Given the description of an element on the screen output the (x, y) to click on. 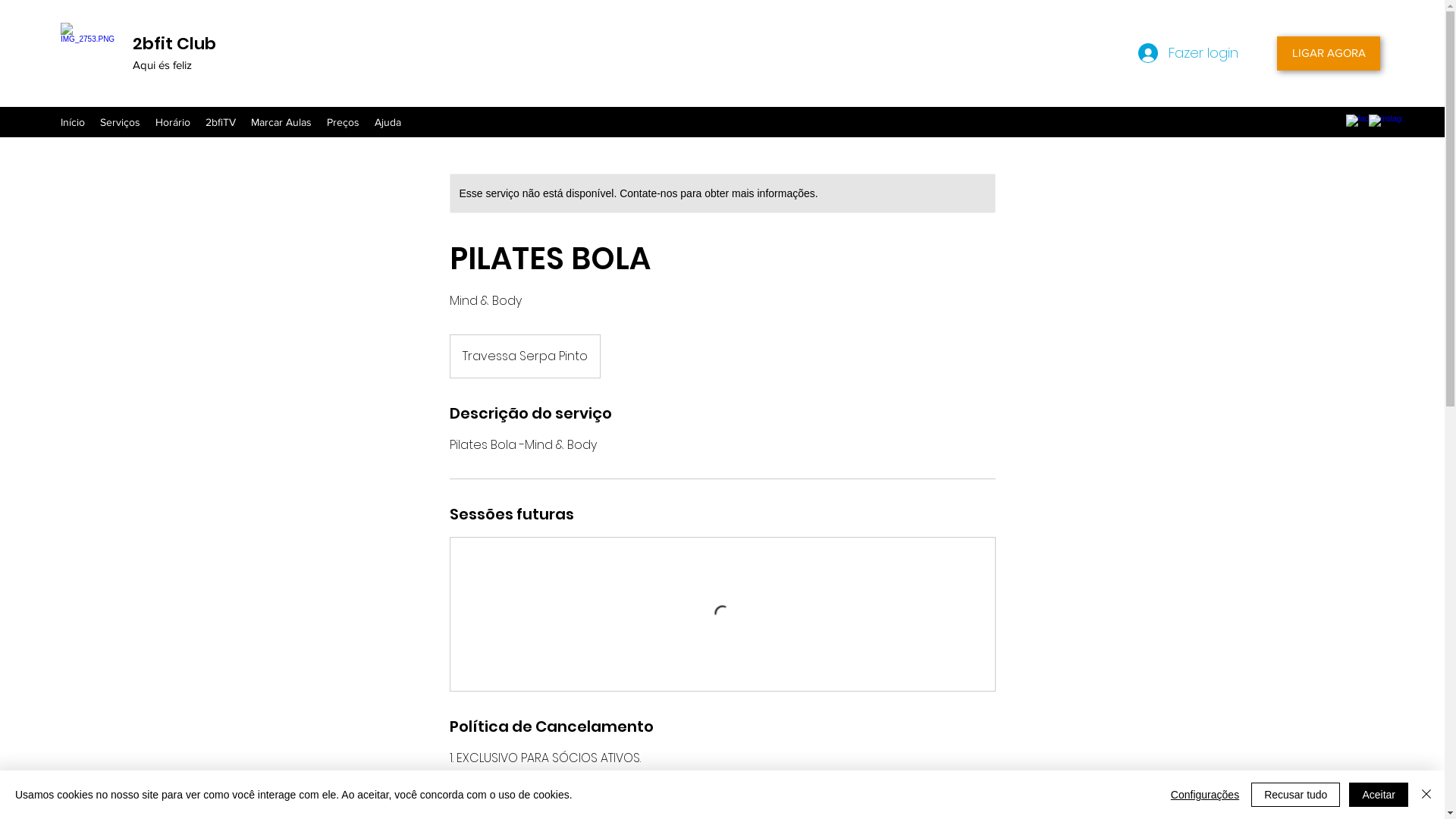
Fazer login Element type: text (1178, 52)
Ajuda Element type: text (387, 121)
Marcar Aulas Element type: text (281, 121)
2bfiTV Element type: text (220, 121)
LIGAR AGORA Element type: text (1328, 53)
2bfit Club Element type: text (174, 43)
